Given the description of an element on the screen output the (x, y) to click on. 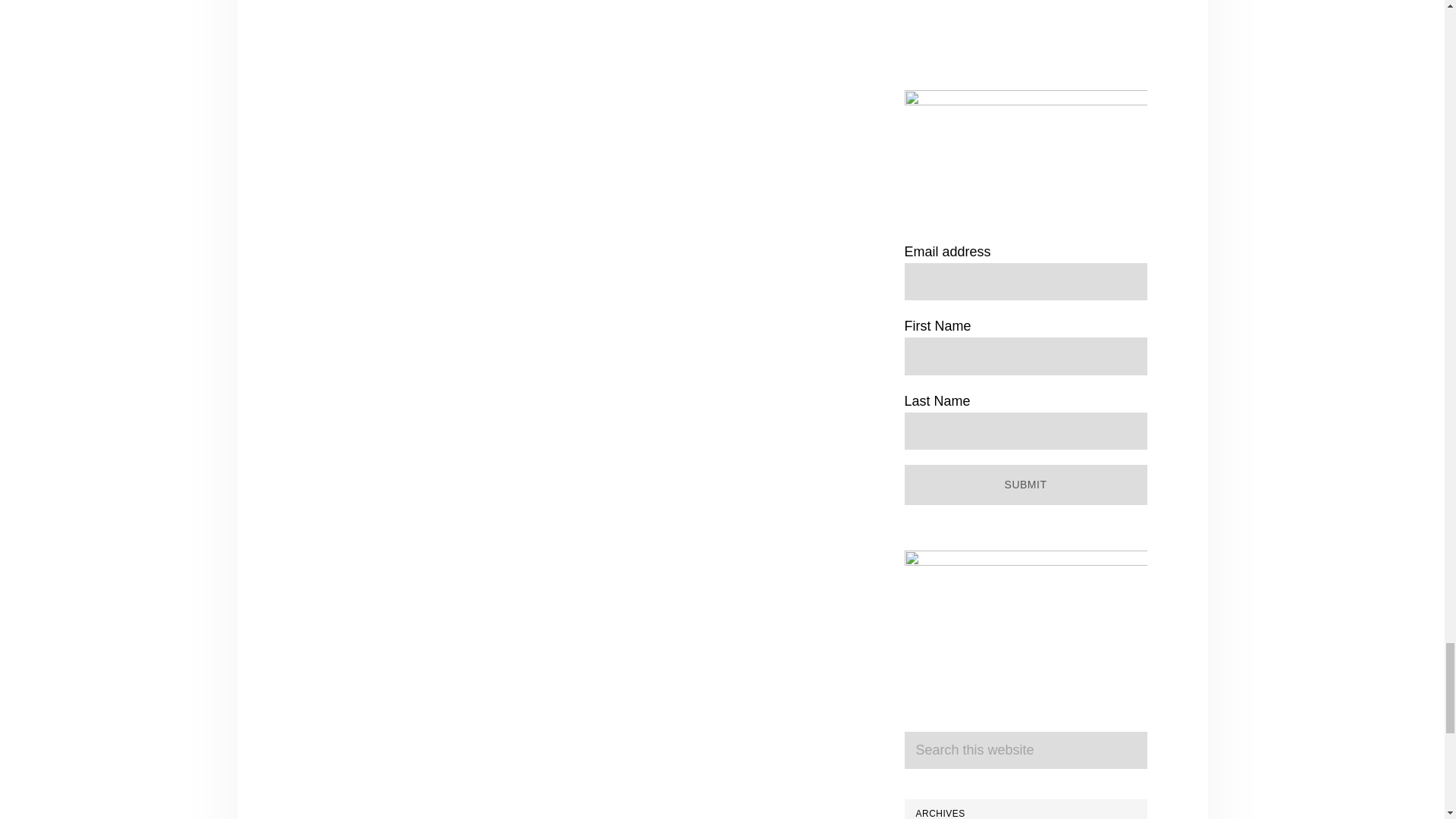
Submit (1025, 485)
